Given the description of an element on the screen output the (x, y) to click on. 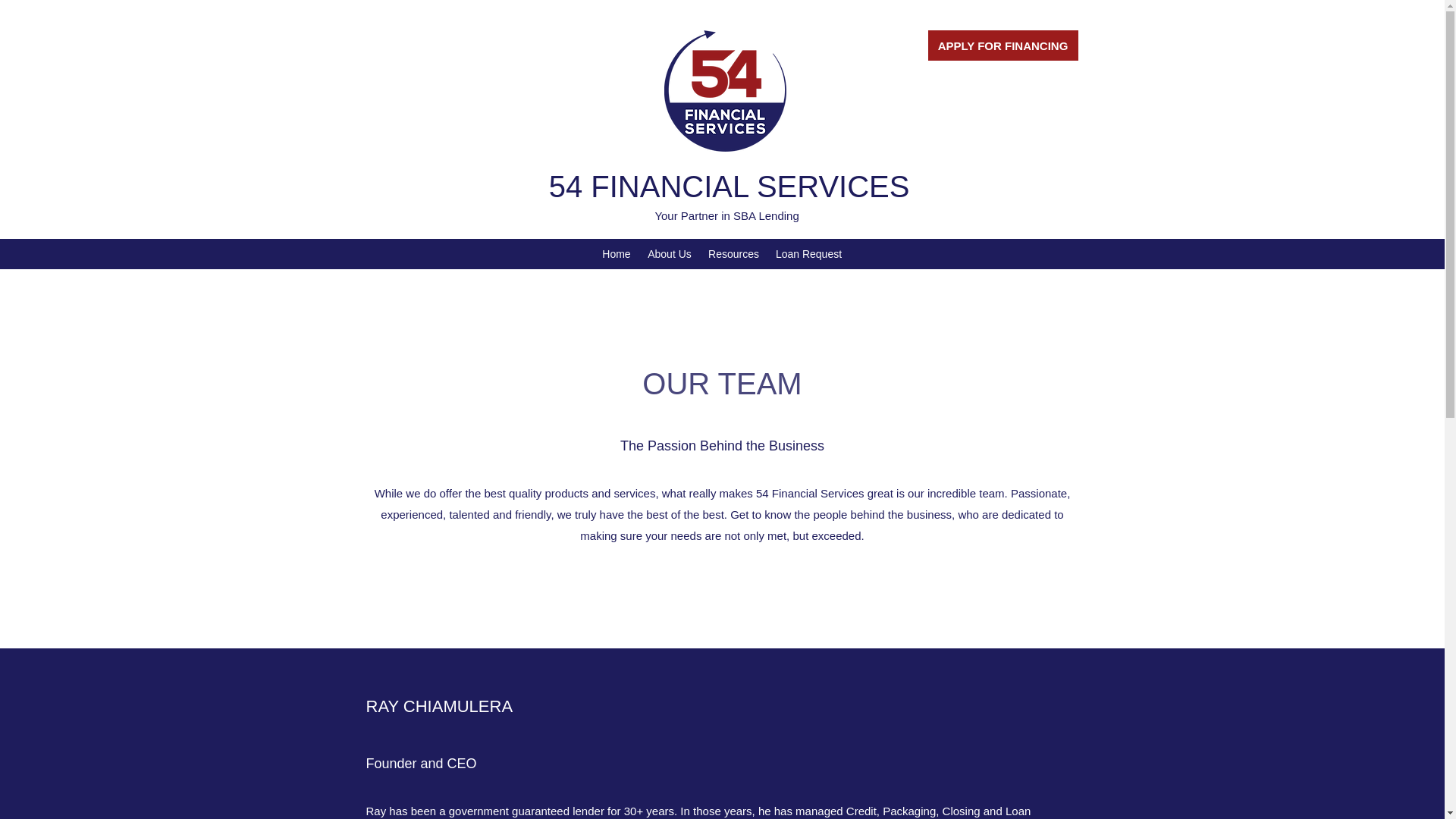
Resources (733, 253)
Loan Request (808, 253)
54 FINANCIAL SERVICES (729, 186)
About Us (669, 253)
Home (616, 253)
APPLY FOR FINANCING (1003, 45)
